Given the description of an element on the screen output the (x, y) to click on. 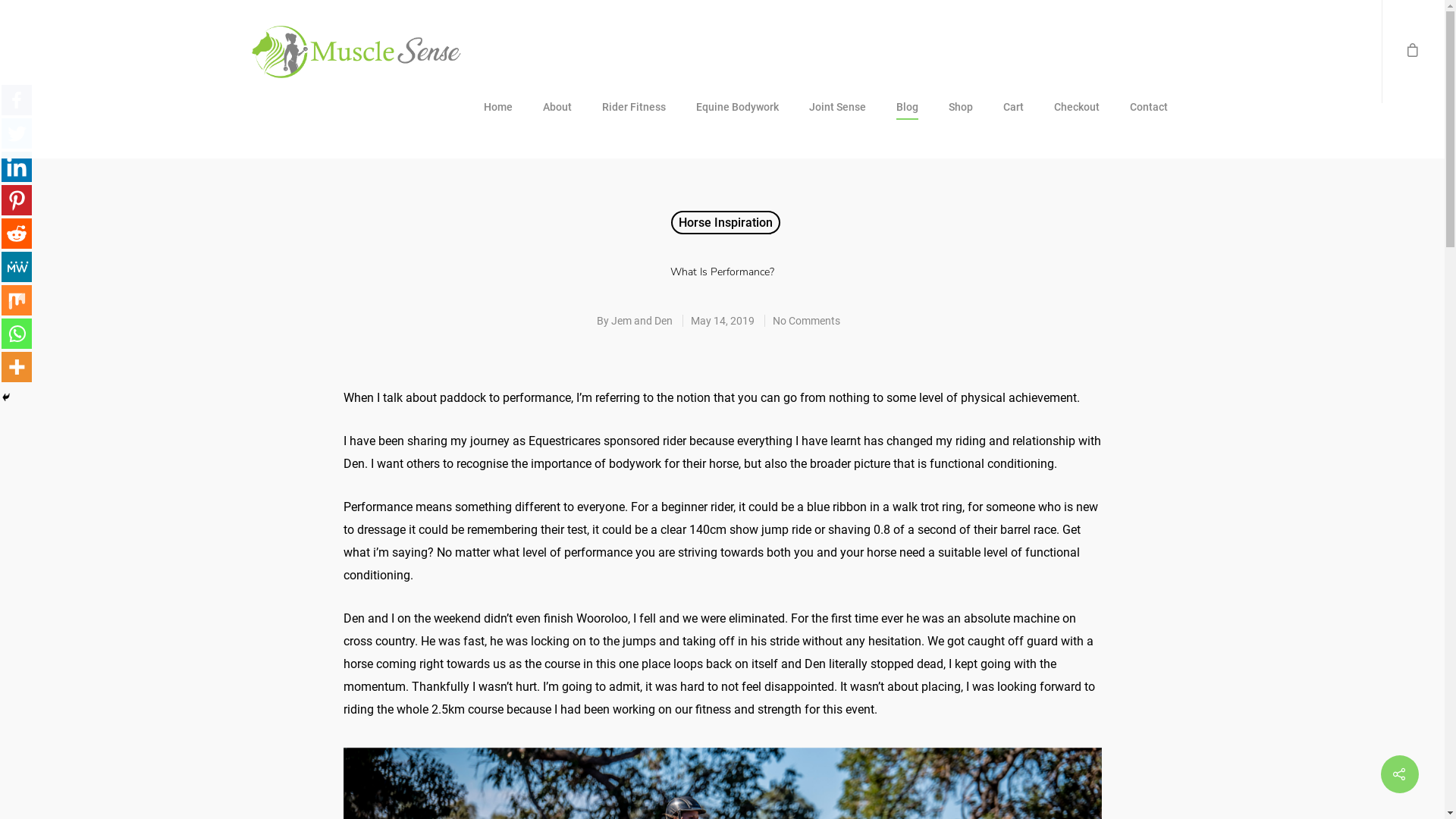
Hide Element type: hover (6, 397)
Equine Bodywork Element type: text (737, 118)
No Comments Element type: text (806, 320)
Linkedin Element type: hover (16, 166)
Joint Sense Element type: text (837, 118)
Pinterest Element type: hover (16, 200)
MeWe Element type: hover (16, 266)
Horse Inspiration Element type: text (725, 222)
Shop Element type: text (960, 118)
Contact Element type: text (1148, 118)
Home Element type: text (497, 118)
Whatsapp Element type: hover (16, 333)
Blog Element type: text (907, 118)
Rider Fitness Element type: text (633, 118)
Jem and Den Element type: text (641, 320)
Facebook Element type: hover (16, 99)
Mix Element type: hover (16, 300)
Checkout Element type: text (1076, 118)
Cart Element type: text (1013, 118)
About Element type: text (556, 118)
More Element type: hover (16, 366)
Reddit Element type: hover (16, 233)
Twitter Element type: hover (16, 133)
